Given the description of an element on the screen output the (x, y) to click on. 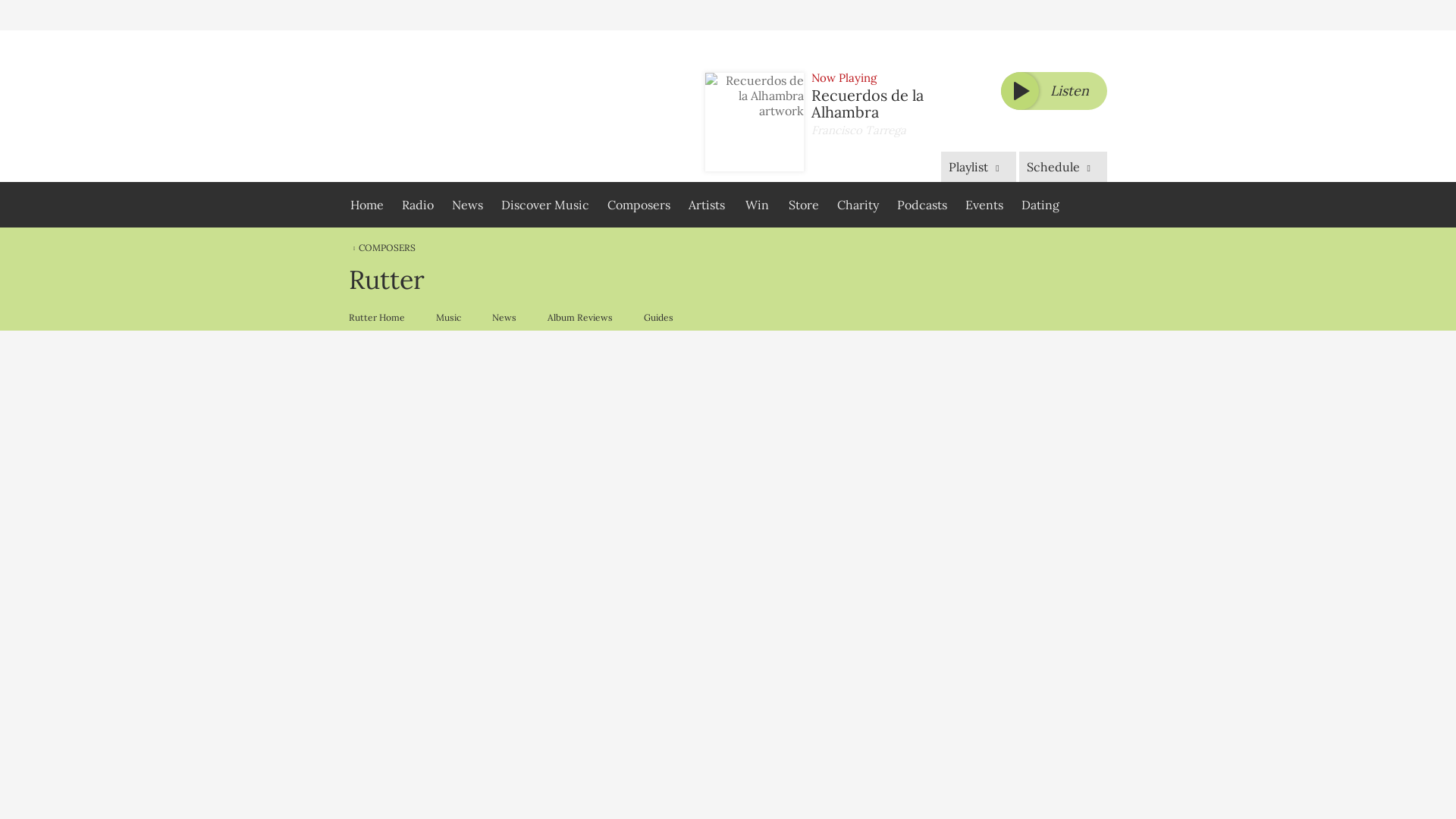
Listen (1053, 90)
Schedule (1062, 166)
Playlist (977, 166)
Artists (706, 204)
Album Reviews (579, 317)
Win (755, 204)
Radio (417, 204)
Events (983, 204)
Podcasts (922, 204)
Discover Music (545, 204)
